Given the description of an element on the screen output the (x, y) to click on. 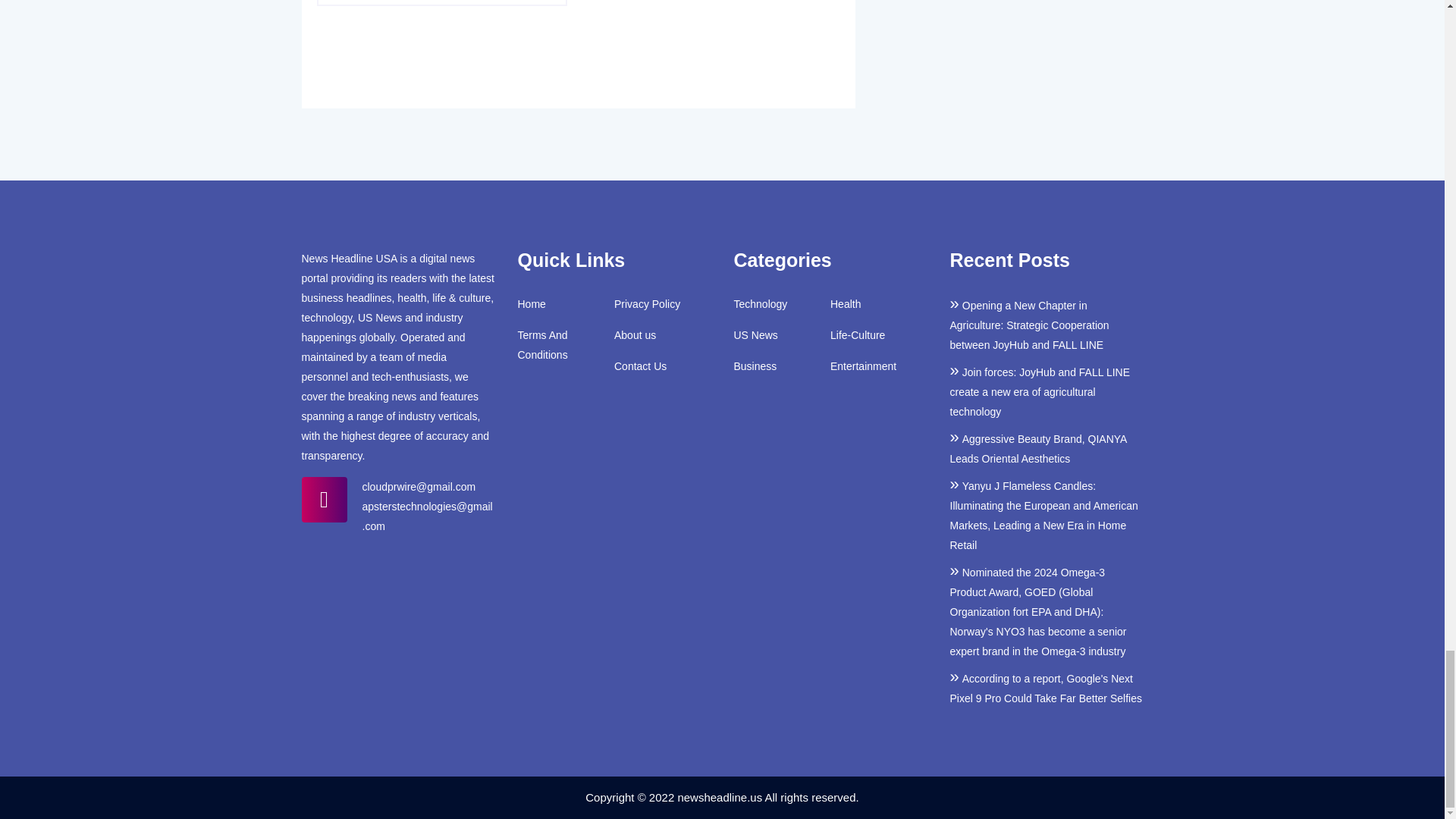
Home (530, 303)
